Given the description of an element on the screen output the (x, y) to click on. 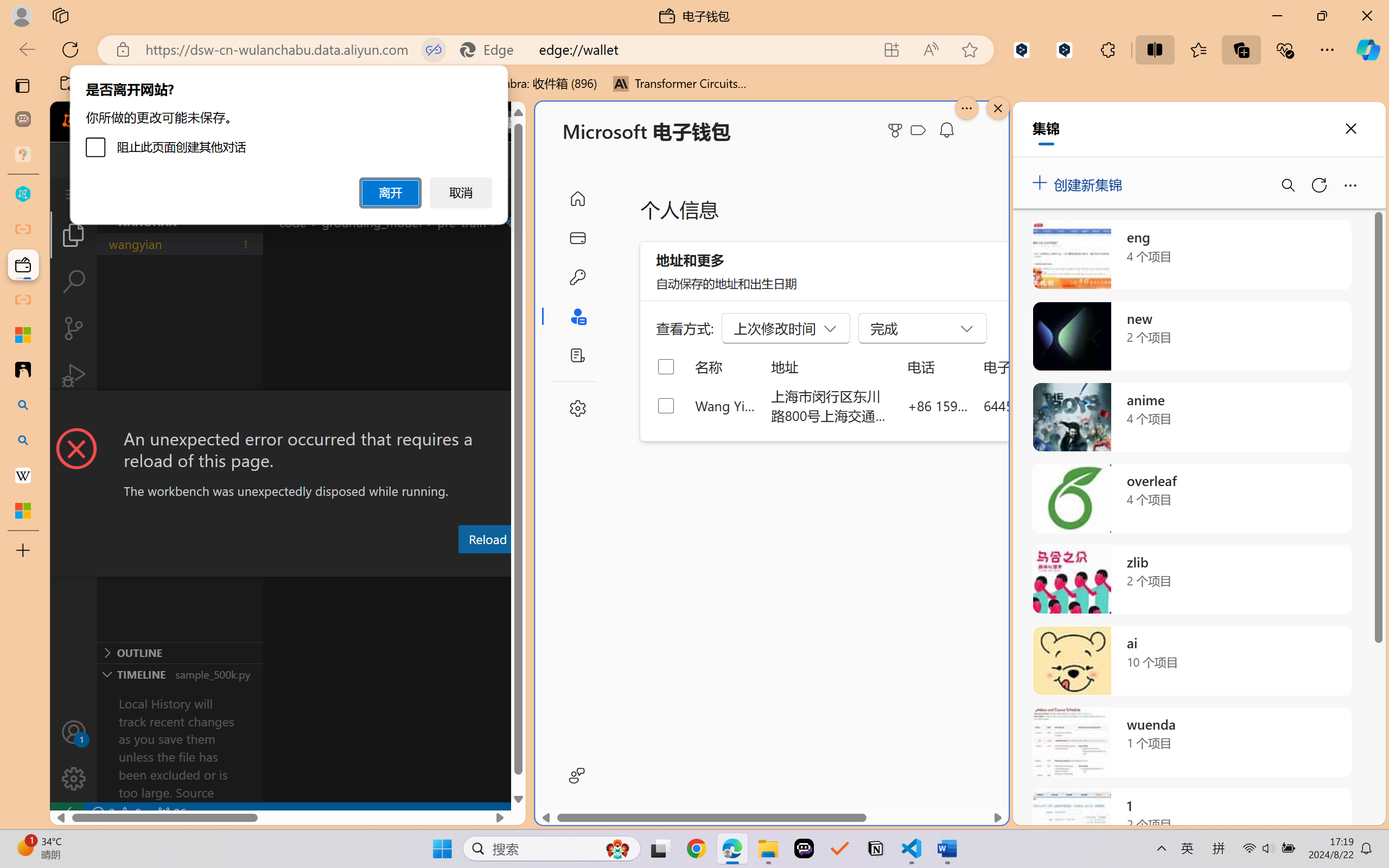
Earth - Wikipedia (22, 475)
Class: actions-container (287, 410)
remote (66, 812)
Accounts - Sign in requested (73, 732)
644553698@qq.com (1043, 405)
Copilot (Ctrl+Shift+.) (1368, 49)
